Given the description of an element on the screen output the (x, y) to click on. 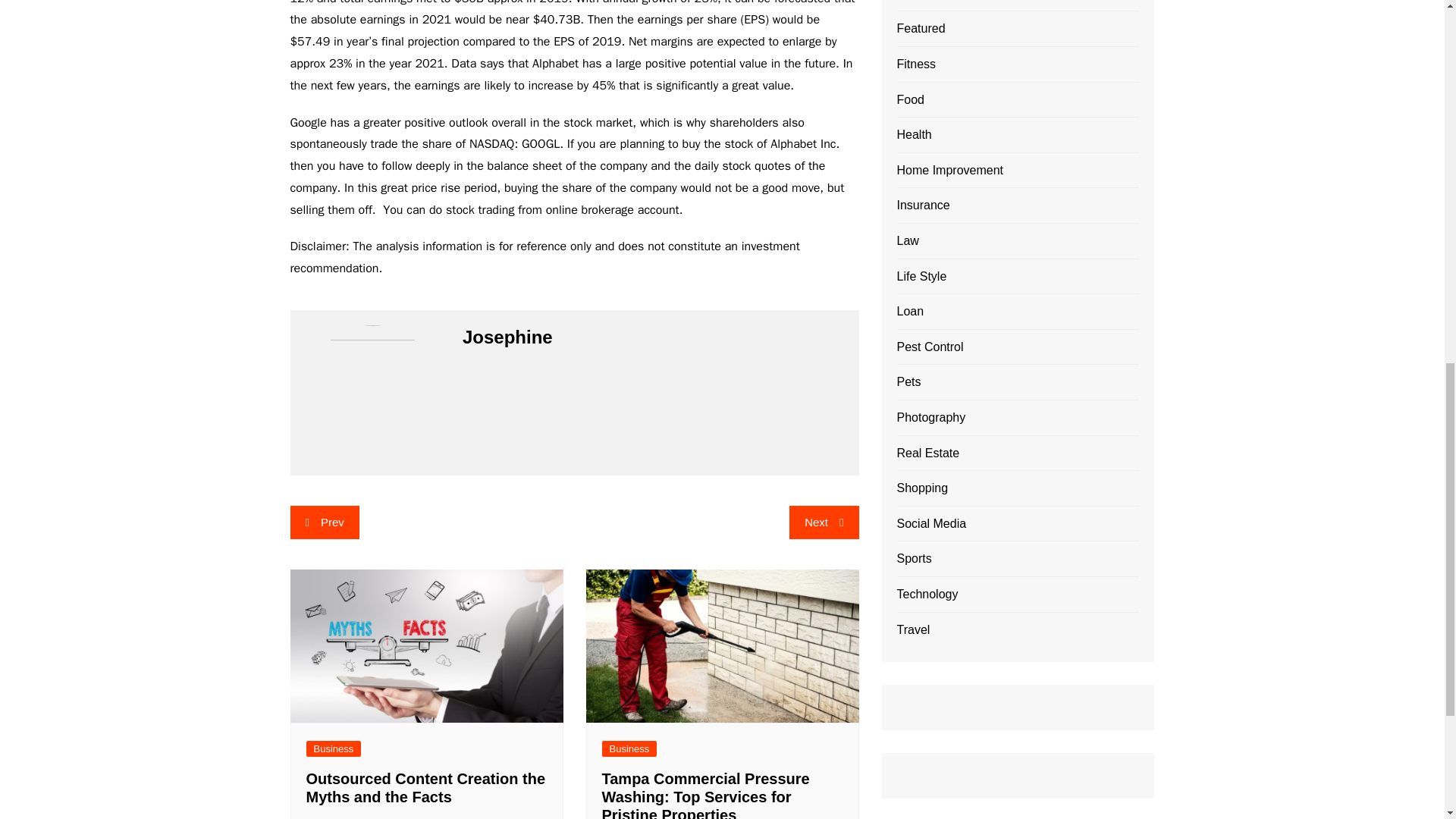
Next (824, 522)
July 20, 2024 (411, 816)
Business (333, 748)
Outsourced Content Creation the Myths and the Facts (425, 787)
Business (630, 748)
Prev (323, 522)
Josephine (333, 816)
